Given the description of an element on the screen output the (x, y) to click on. 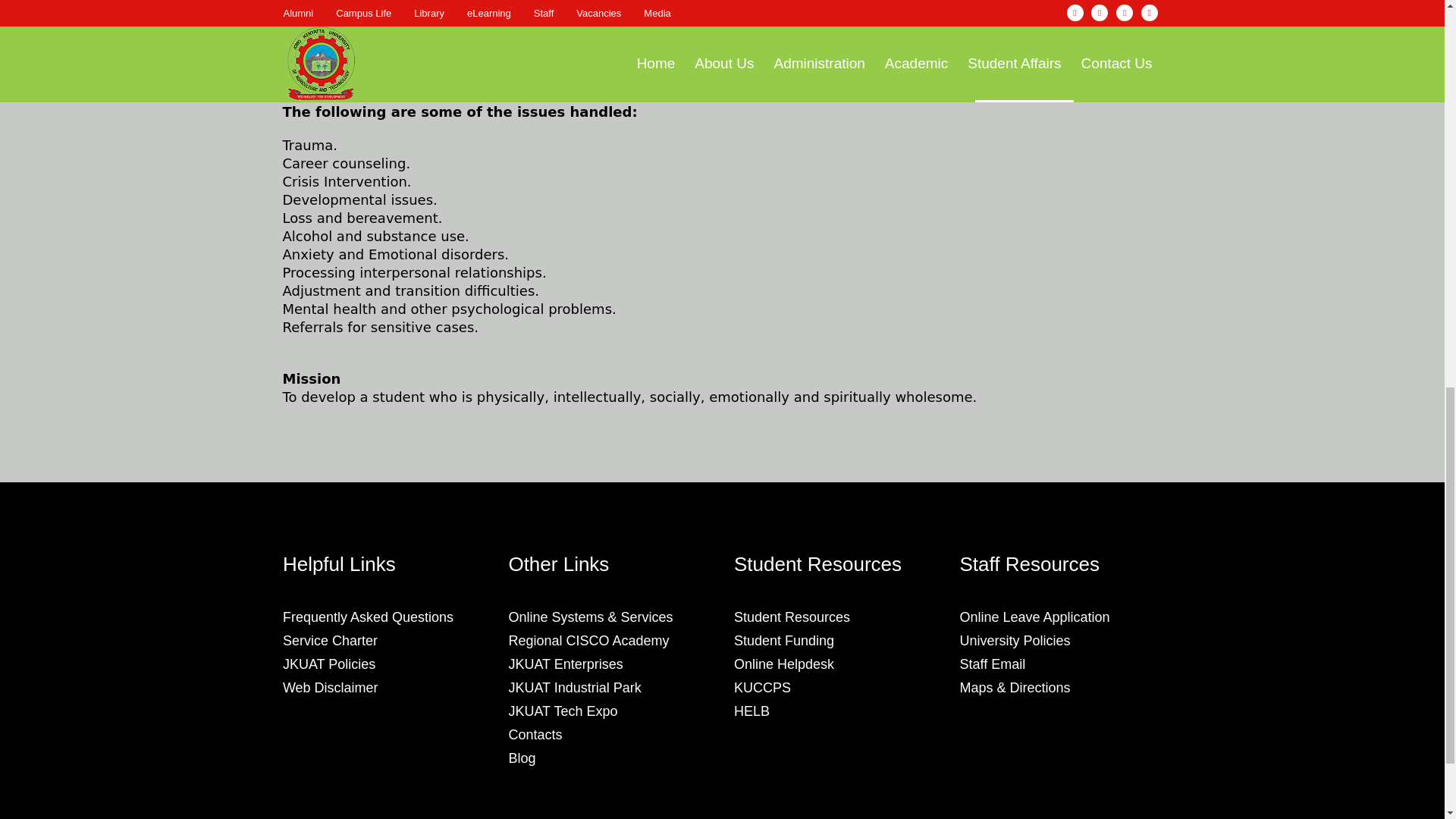
Service Charter (329, 640)
Frequently Asked Questions (367, 616)
Discover JKUAT Blog (521, 758)
